Given the description of an element on the screen output the (x, y) to click on. 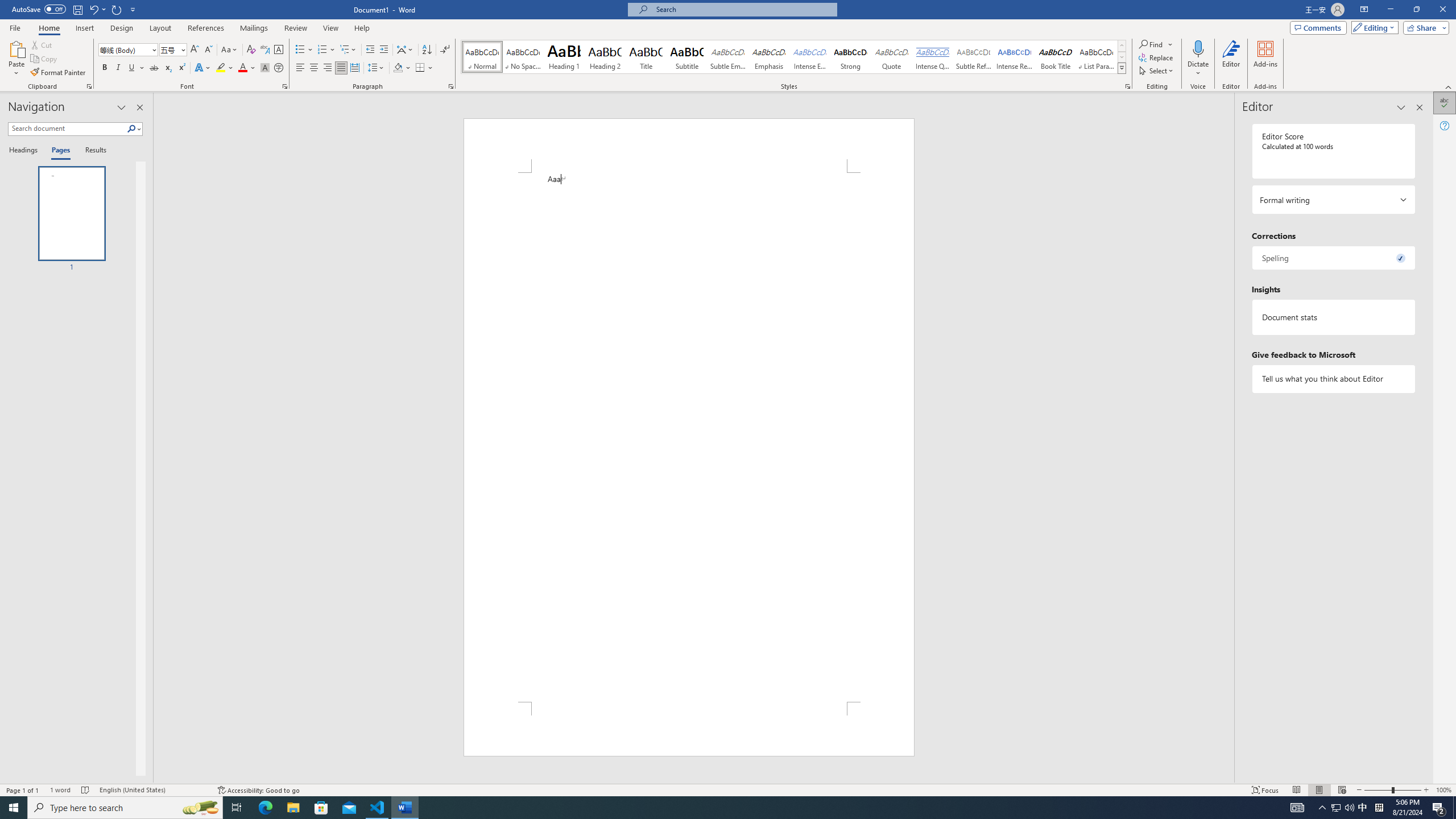
Ribbon Display Options (1364, 9)
Bullets (300, 49)
Search document (66, 128)
References (205, 28)
Distributed (354, 67)
Underline (136, 67)
Accessibility Checker Accessibility: Good to go (258, 790)
Class: MsoCommandBar (728, 789)
Web Layout (1342, 790)
Review (295, 28)
Close pane (139, 107)
Zoom Out (1377, 790)
Save (77, 9)
Shrink Font (208, 49)
